Given the description of an element on the screen output the (x, y) to click on. 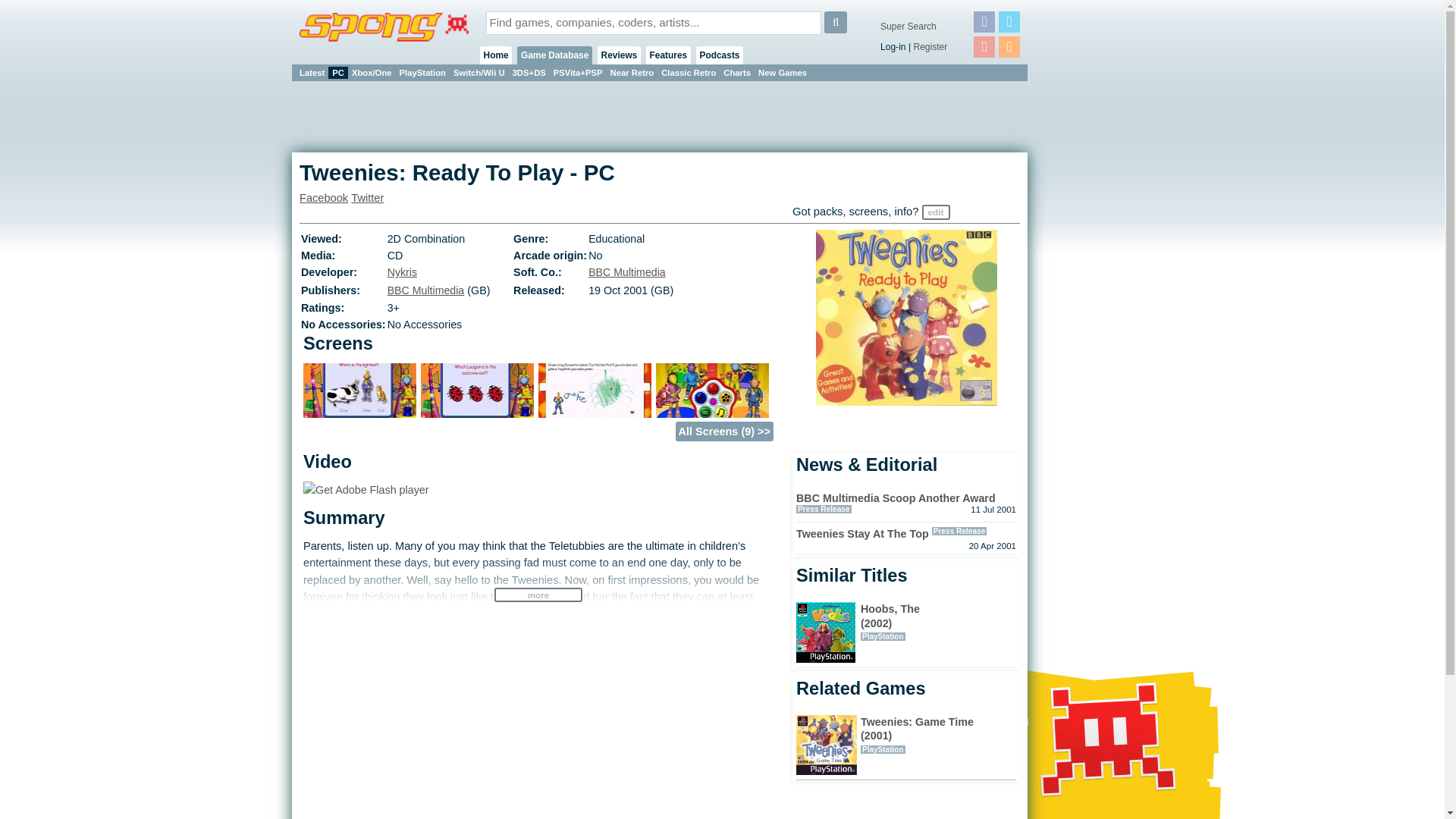
Home (496, 54)
New Games (782, 72)
PlayStation (422, 72)
Reviews (618, 54)
Near Retro (632, 72)
Log-in (892, 46)
Super Search (908, 26)
Classic Retro (688, 72)
Game Database (554, 54)
Podcasts (719, 54)
